Given the description of an element on the screen output the (x, y) to click on. 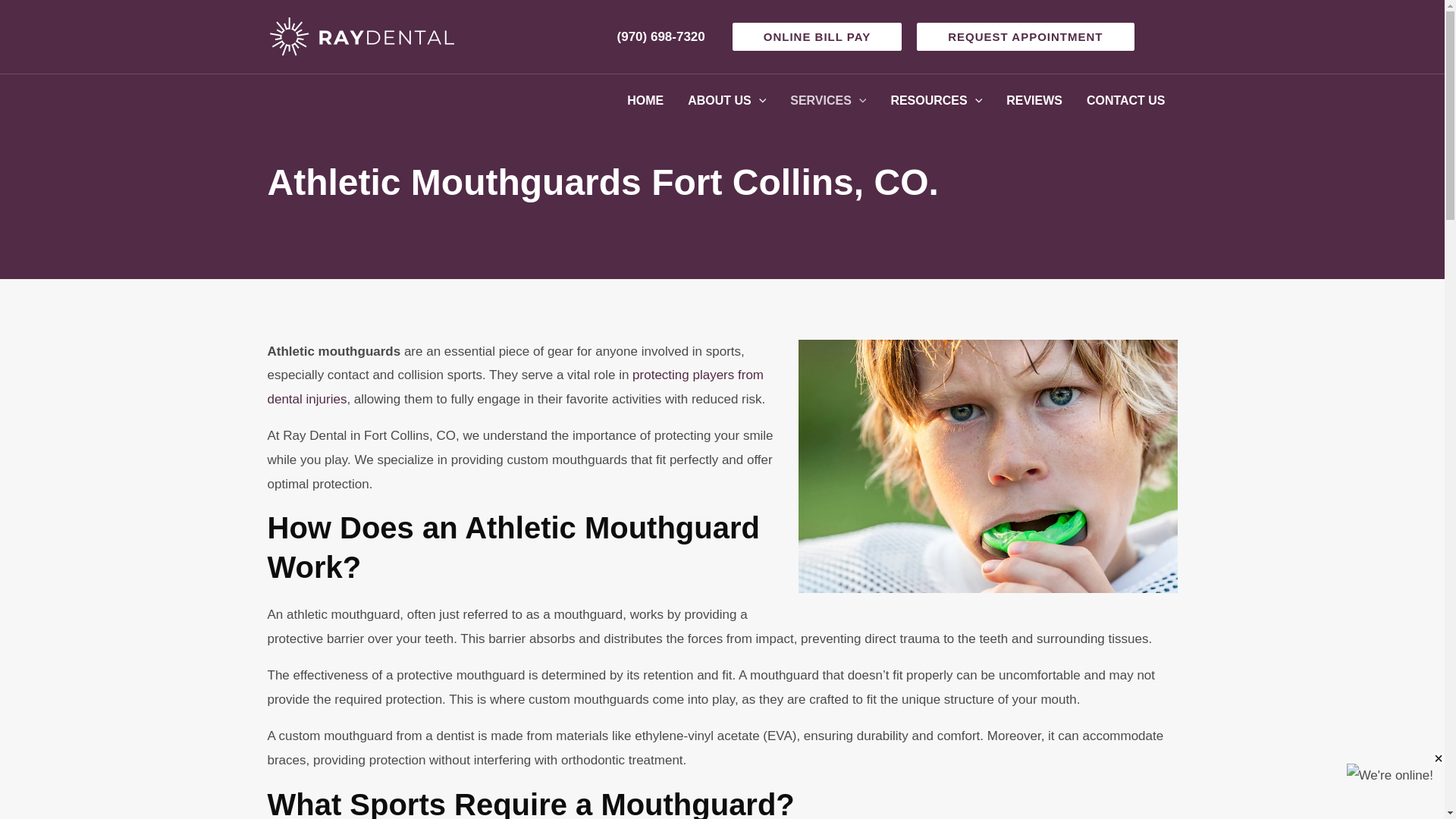
SERVICES (827, 100)
LiveChat chat widget (1337, 795)
ONLINE BILL PAY (816, 36)
REQUEST APPOINTMENT (1025, 36)
ABOUT US (726, 100)
HOME (644, 100)
